Given the description of an element on the screen output the (x, y) to click on. 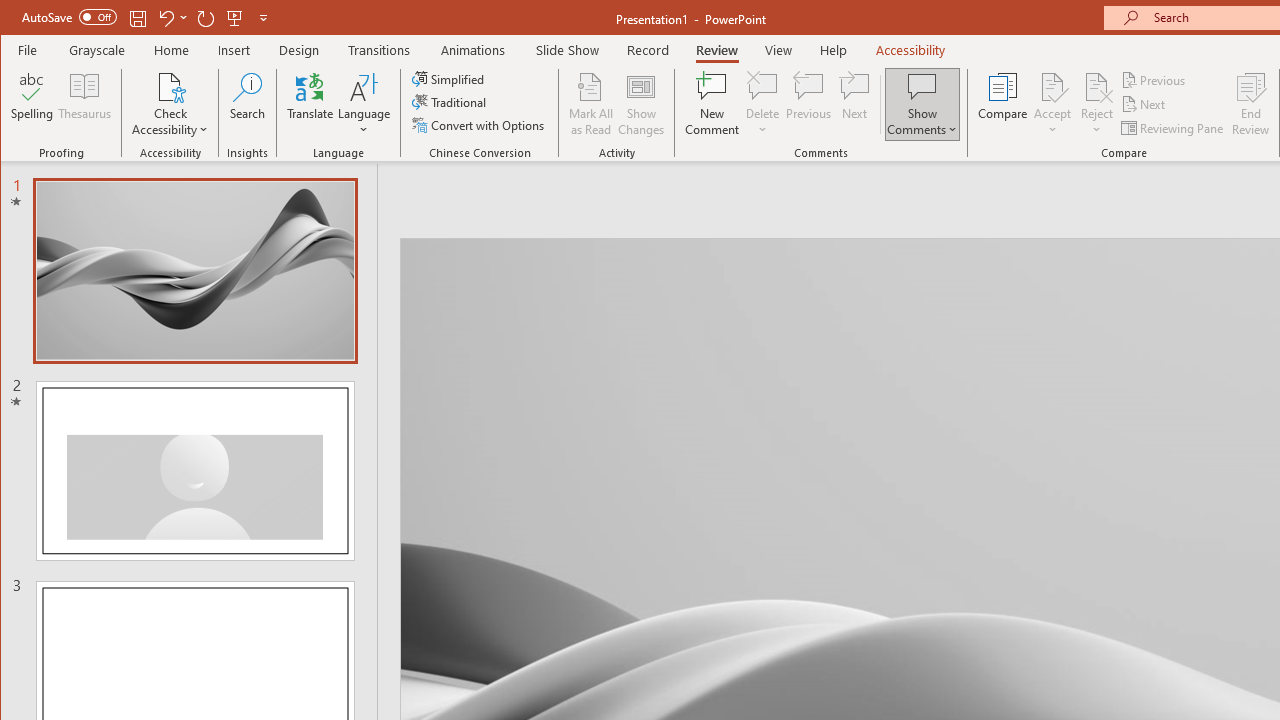
Reject (1096, 104)
Simplified (450, 78)
Grayscale (97, 50)
Traditional (450, 101)
Next (1144, 103)
Convert with Options... (479, 124)
